Given the description of an element on the screen output the (x, y) to click on. 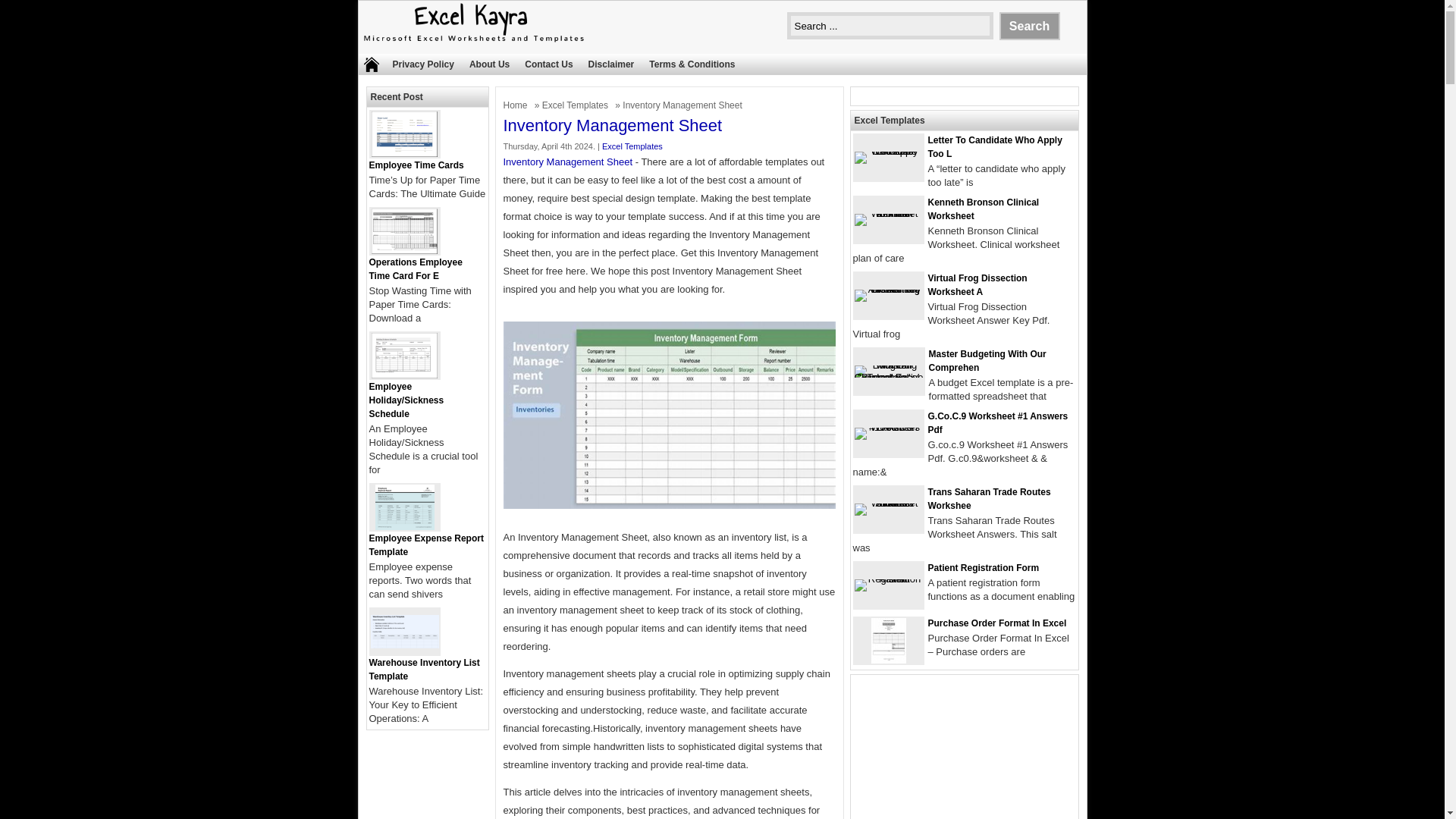
Home (517, 104)
Search (1028, 26)
Excel Templates (576, 104)
About Us (488, 64)
Operations Employee Time Card for Excel (414, 269)
Employee Time Cards (404, 153)
Excel Templates (576, 104)
Employee Expense Report Template (425, 545)
Kenneth Bronson Clinical Worksheet (983, 209)
Excel Templates (632, 145)
Letter To Candidate Who Apply Too L (995, 146)
Operations Employee Time Card for Excel (404, 250)
Contact Us (547, 64)
Privacy Policy (423, 64)
Kayra Excel (471, 43)
